Given the description of an element on the screen output the (x, y) to click on. 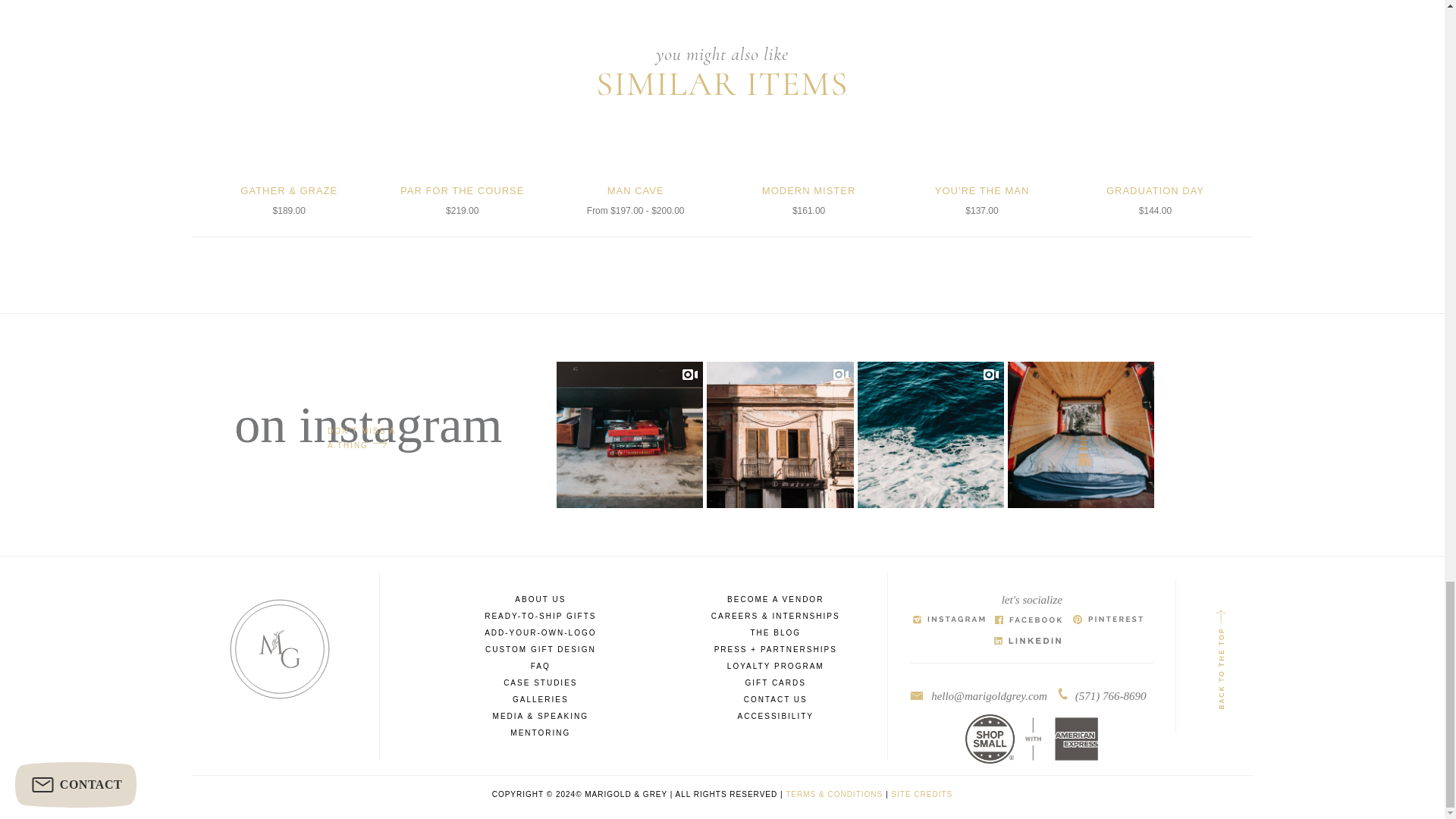
Graduation Day (1155, 132)
Modern Mister (809, 132)
Man Cave (635, 132)
Par For The Course (462, 132)
You're The Man (981, 132)
